Given the description of an element on the screen output the (x, y) to click on. 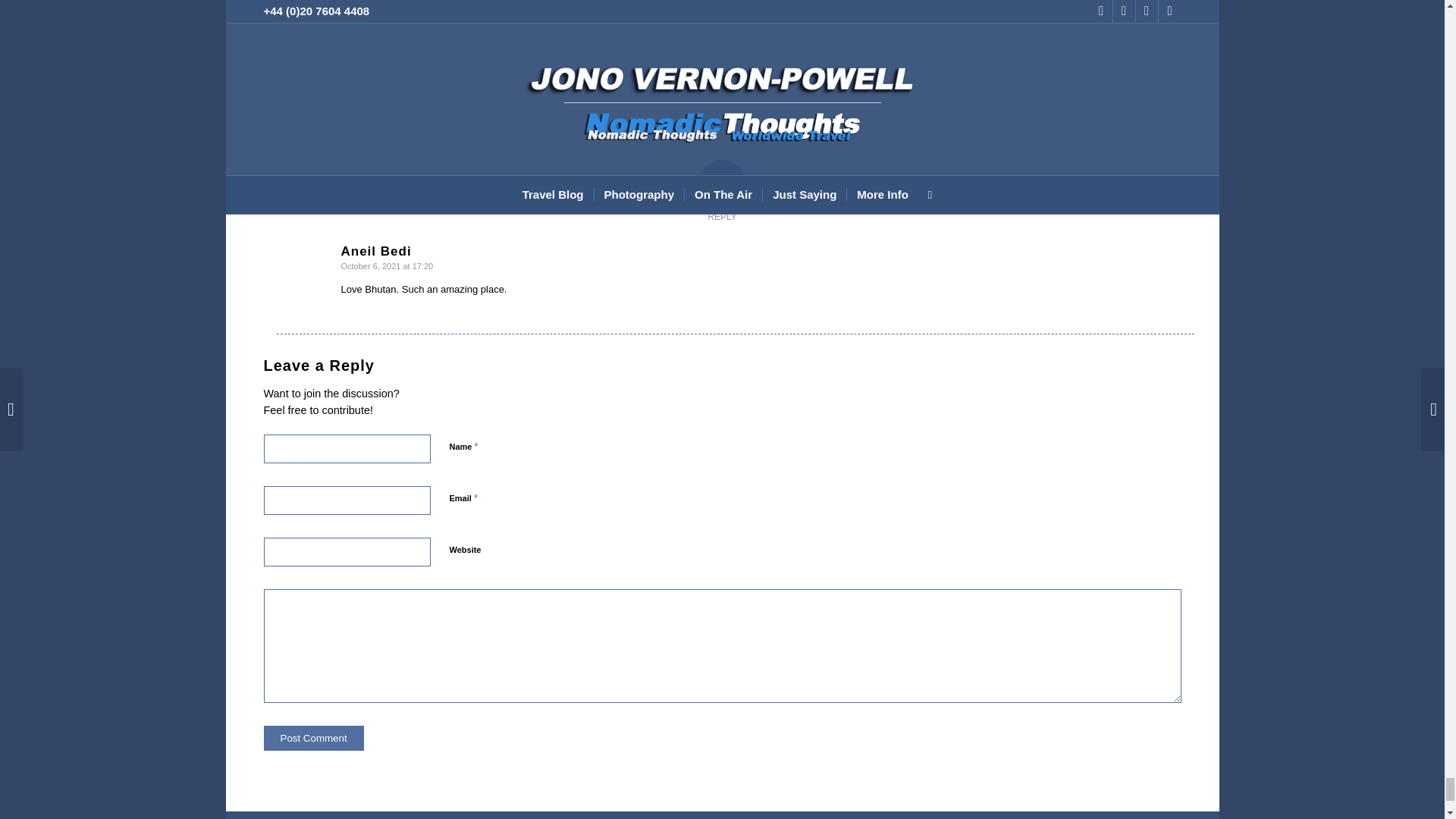
Post Comment (313, 738)
Post Comment (313, 738)
October 6, 2021 at 17:20 (386, 266)
